Given the description of an element on the screen output the (x, y) to click on. 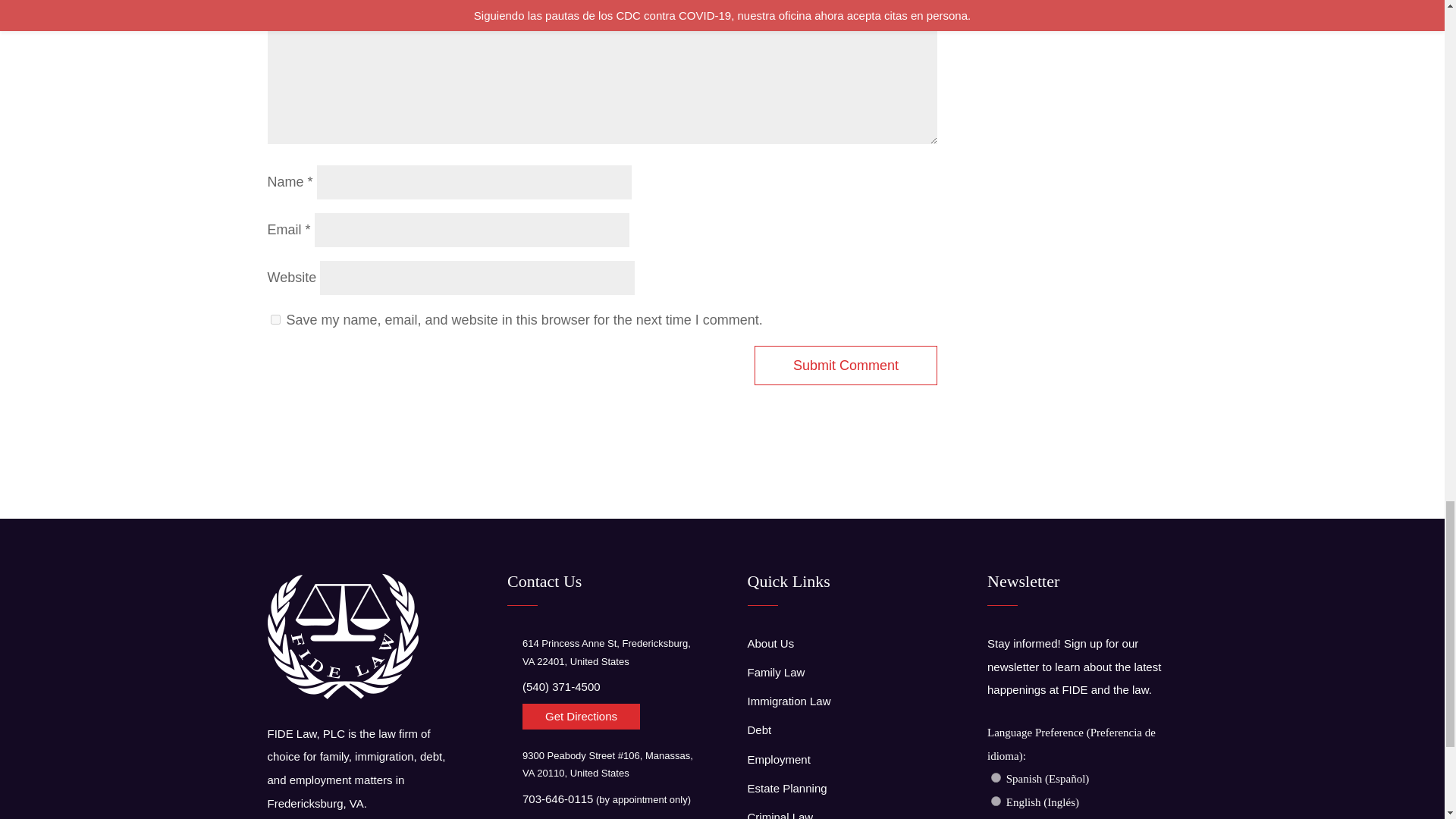
Submit Comment (845, 365)
English (996, 800)
yes (274, 319)
Spanish (996, 777)
Submit Comment (845, 365)
